Given the description of an element on the screen output the (x, y) to click on. 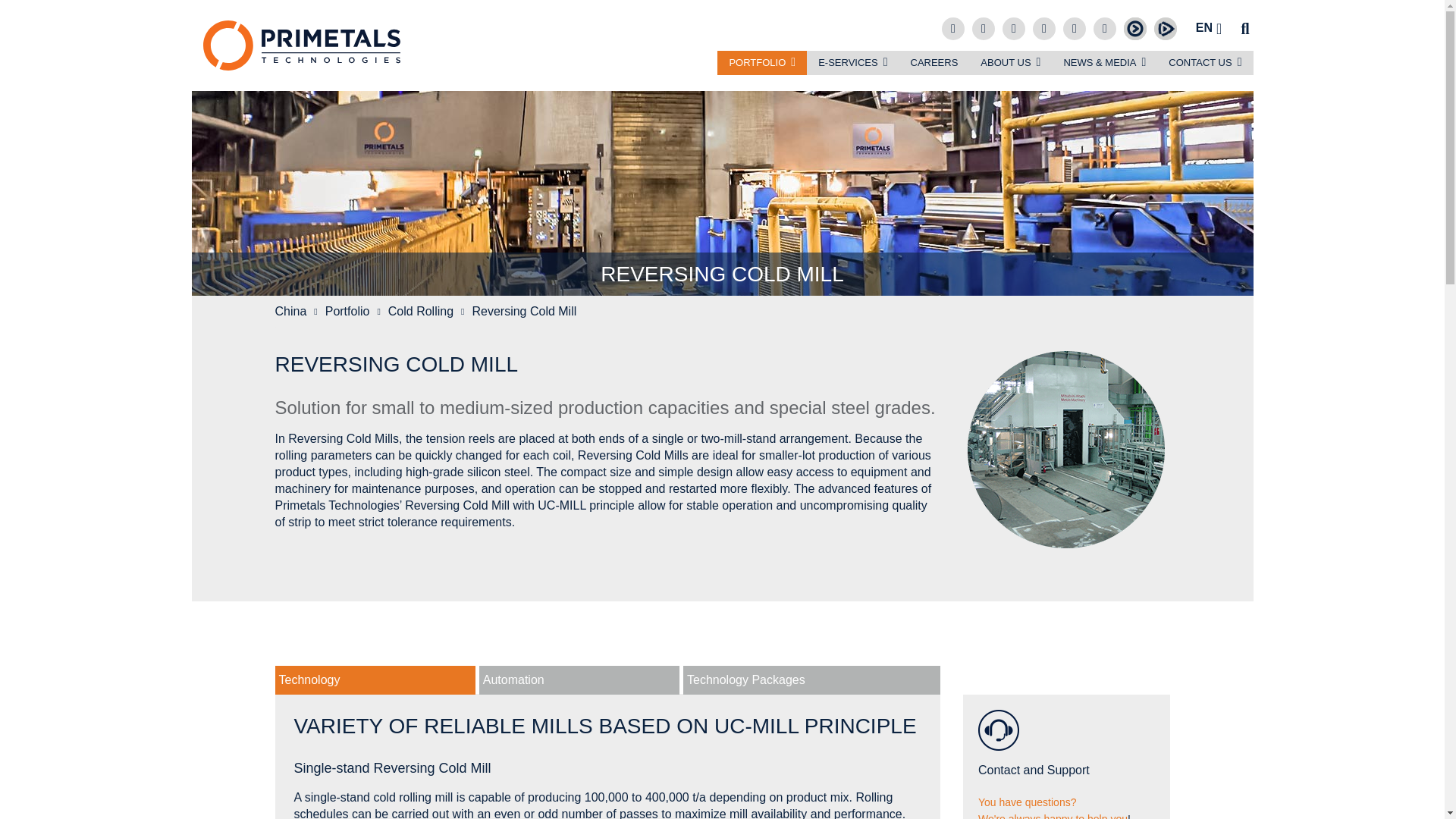
Tencent (1165, 27)
PORTFOLIO (761, 61)
Reversing Cold Mill (1066, 449)
